Given the description of an element on the screen output the (x, y) to click on. 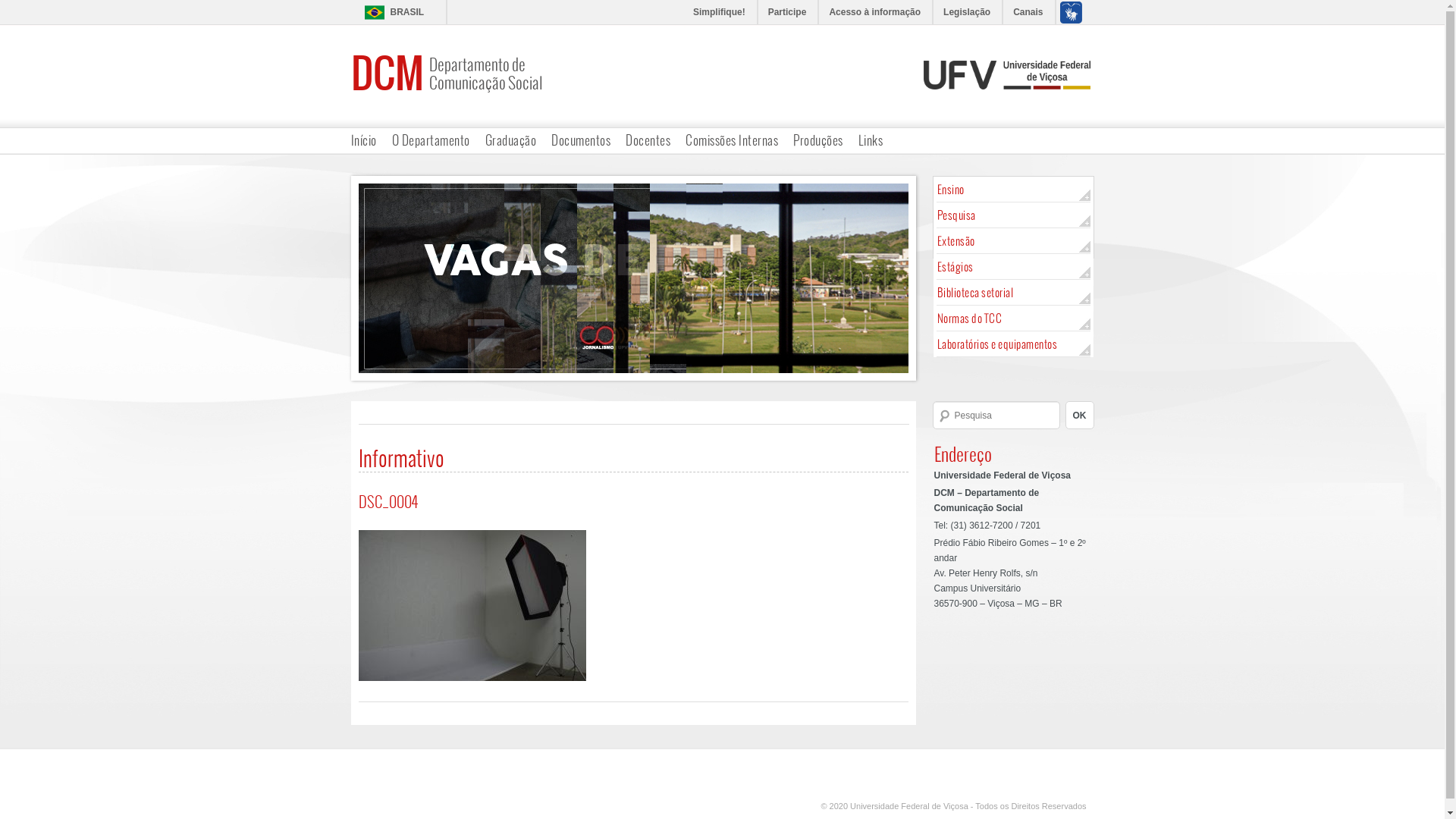
OK Element type: text (1078, 415)
Simplifique! Element type: text (719, 11)
Ensino Element type: text (1014, 189)
Biblioteca setorial Element type: text (1014, 292)
Participe Element type: text (788, 11)
Links Element type: text (870, 139)
Normas do TCC Element type: text (1014, 318)
BRASIL Element type: text (389, 12)
O Departamento Element type: text (430, 139)
Docentes Element type: text (647, 139)
Canais Element type: text (1028, 11)
Documentos Element type: text (580, 139)
Pesquisa Element type: text (1014, 215)
